Given the description of an element on the screen output the (x, y) to click on. 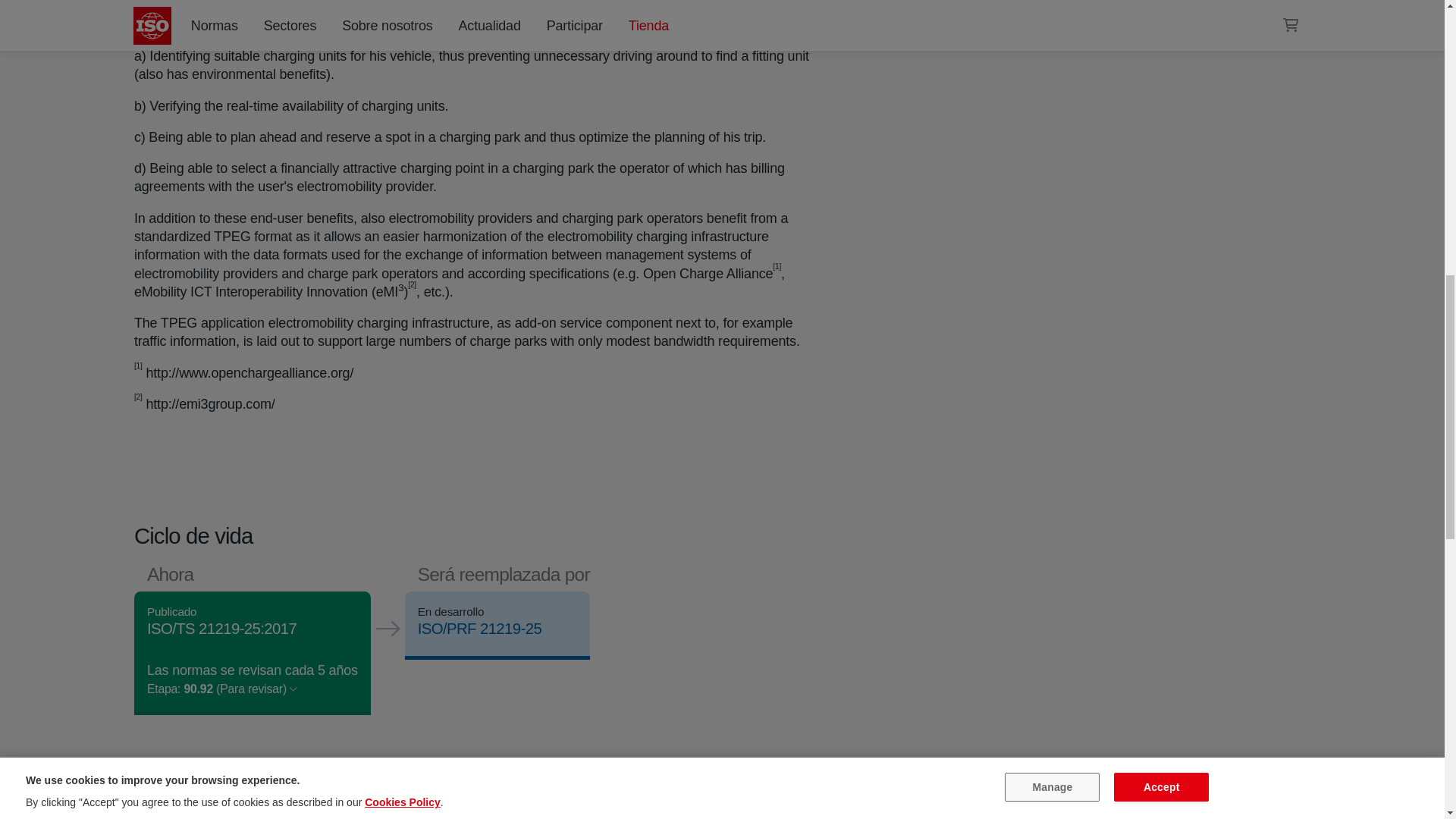
Transport in general (997, 10)
IT applications in transport (1063, 10)
